Given the description of an element on the screen output the (x, y) to click on. 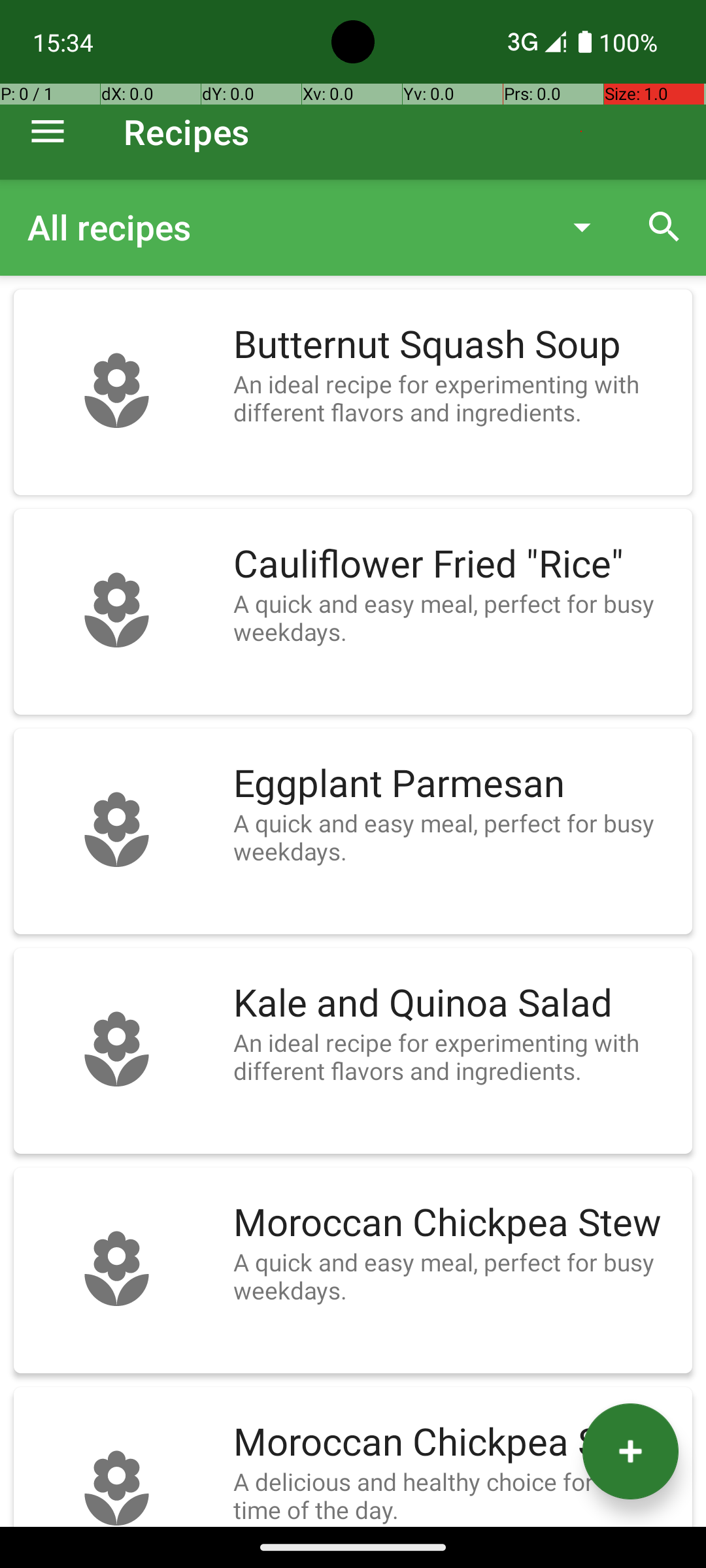
Eggplant Parmesan Element type: android.widget.TextView (455, 783)
Kale and Quinoa Salad Element type: android.widget.TextView (455, 1003)
Moroccan Chickpea Stew Element type: android.widget.TextView (455, 1222)
